Given the description of an element on the screen output the (x, y) to click on. 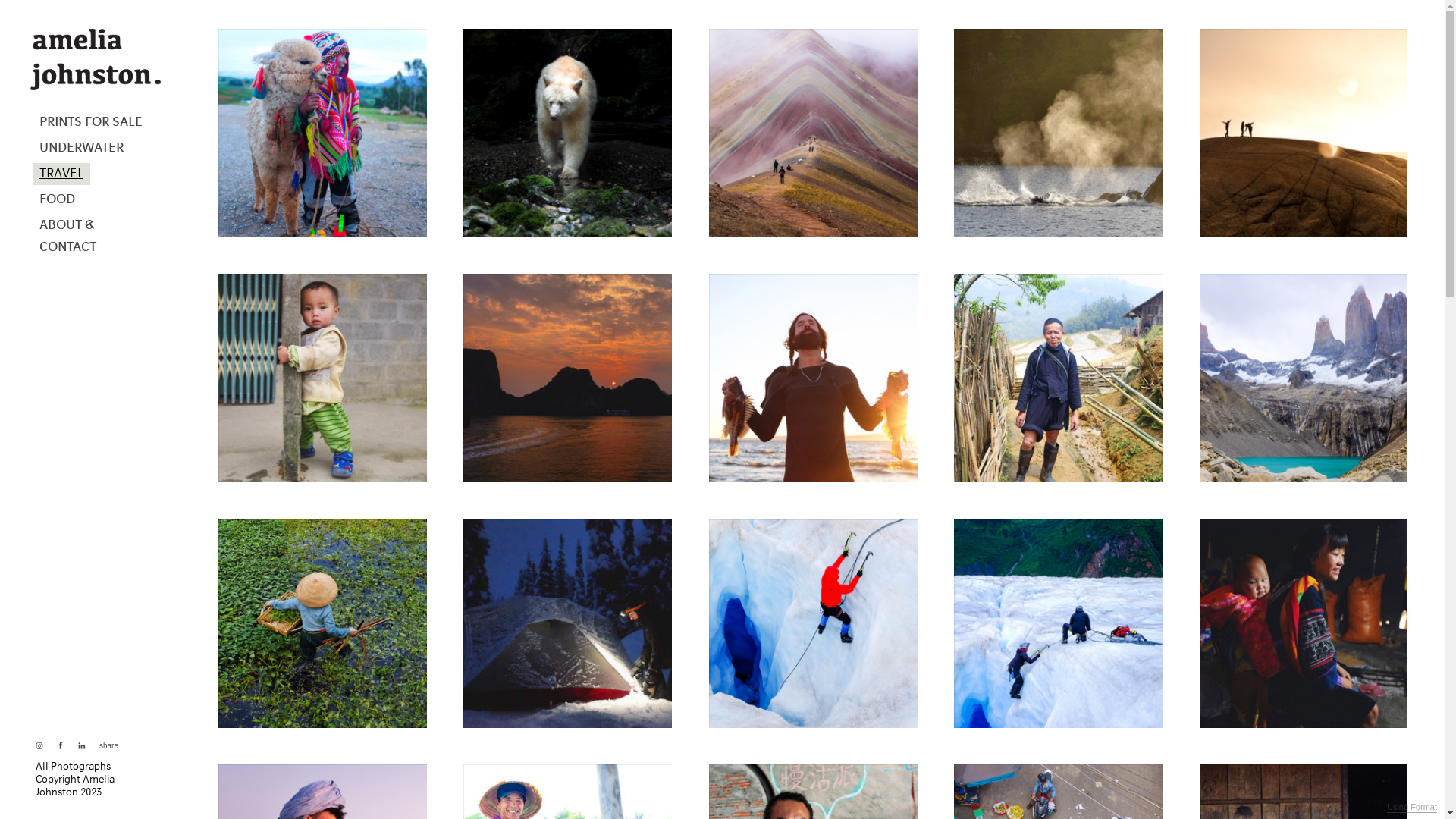
share Element type: text (105, 745)
TRAVEL Element type: text (61, 174)
UNDERWATER Element type: text (81, 148)
Using Format Element type: text (1411, 807)
ABOUT & CONTACT Element type: text (95, 236)
FOOD Element type: text (56, 199)
PRINTS FOR SALE Element type: text (90, 122)
